Given the description of an element on the screen output the (x, y) to click on. 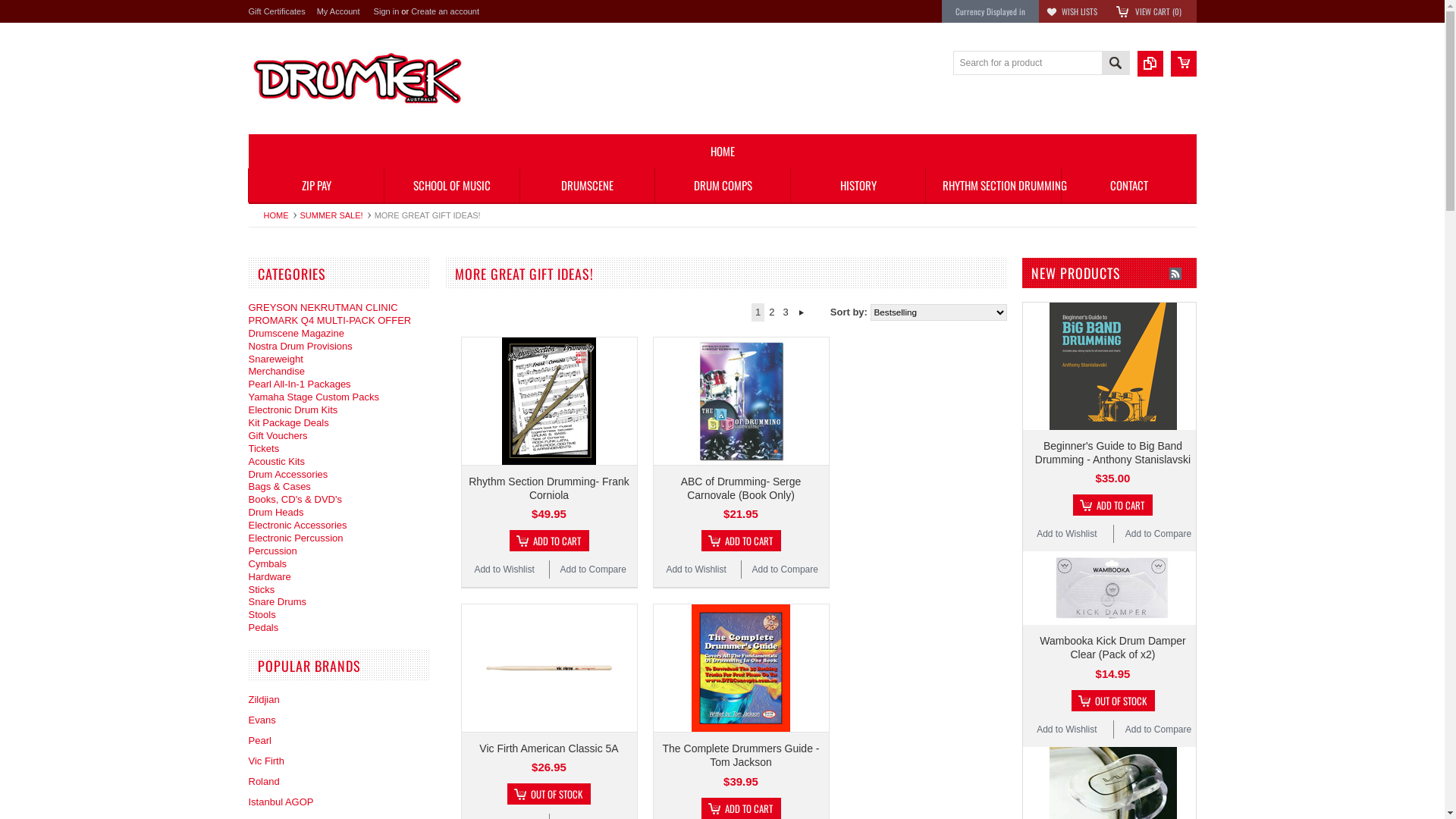
ZIP PAY Element type: text (315, 185)
Cymbals Element type: text (267, 563)
ABC of Drumming- Serge Carnovale (Book Only) Element type: text (740, 488)
Tickets Element type: text (263, 448)
OUT OF STOCK Element type: text (548, 793)
VIEW CART (0) Element type: text (1157, 11)
Bags & Cases Element type: text (279, 486)
Merchandise Element type: text (276, 370)
New Products RSS Feed for More Great Gift Ideas! Element type: hover (1175, 273)
DRUM COMPS Element type: text (722, 185)
SEARCH Element type: text (1114, 64)
Sticks Element type: text (261, 589)
Yamaha Stage Custom Packs Element type: text (313, 396)
Pearl Element type: text (259, 740)
DRUMSCENE Element type: text (587, 185)
OUT OF STOCK Element type: text (1112, 700)
Acoustic Kits Element type: text (276, 461)
Books, CD's & DVD's Element type: text (295, 499)
ADD TO CART Element type: text (1112, 504)
SUMMER SALE! Element type: text (335, 214)
Sign in Element type: text (386, 11)
Add to Wishlist Element type: text (1066, 729)
Electronic Drum Kits Element type: text (293, 409)
Add to Compare Element type: text (593, 569)
Add to Wishlist Element type: text (1066, 533)
Zildjian Element type: text (263, 699)
3 Element type: text (785, 312)
Snare Drums Element type: text (277, 601)
HISTORY Element type: text (857, 185)
Percussion Element type: text (272, 550)
Rhythm Section Drumming- Frank Corniola Element type: text (548, 488)
Electronic Percussion Element type: text (295, 537)
GREYSON NEKRUTMAN CLINIC Element type: text (323, 307)
2 Element type: text (771, 312)
The Complete Drummers Guide - Tom Jackson Element type: text (740, 755)
Add to Wishlist Element type: text (696, 569)
CONTACT Element type: text (1128, 185)
Pedals Element type: text (263, 627)
ADD TO CART Element type: text (740, 540)
Roland Element type: text (263, 781)
Gift Vouchers Element type: text (277, 435)
Pearl All-In-1 Packages Element type: text (299, 383)
View Cart Element type: hover (1183, 63)
WISH LISTS Element type: text (1079, 11)
Add to Compare Element type: text (1158, 729)
ADD TO CART Element type: text (549, 540)
SCHOOL OF MUSIC Element type: text (451, 185)
HOME Element type: text (279, 214)
Gift Certificates Element type: text (276, 10)
Drumscene Magazine Element type: text (296, 332)
PROMARK Q4 MULTI-PACK OFFER Element type: text (329, 320)
Istanbul AGOP Element type: text (280, 801)
Hardware Element type: text (269, 576)
RHYTHM SECTION DRUMMING Element type: text (992, 185)
Create an account Element type: text (445, 11)
Add to Compare Element type: text (784, 569)
Wambooka Kick Drum Damper Clear (Pack of x2) Element type: text (1112, 647)
Kit Package Deals Element type: text (288, 422)
My Account Element type: text (338, 10)
Vic Firth Element type: text (266, 760)
Evans Element type: text (262, 719)
Nostra Drum Provisions Element type: text (300, 345)
HOME Element type: text (722, 151)
Vic Firth American Classic 5A Element type: text (548, 748)
Drum Heads Element type: text (276, 511)
Add to Wishlist Element type: text (503, 569)
Snareweight Element type: text (275, 358)
Beginner's Guide to Big Band Drumming - Anthony Stanislavski Element type: text (1112, 452)
Electronic Accessories Element type: text (297, 524)
Add to Compare Element type: text (1158, 533)
Stools Element type: text (262, 614)
Compare Product Element type: hover (1150, 63)
Drum Accessories Element type: text (288, 474)
